Given the description of an element on the screen output the (x, y) to click on. 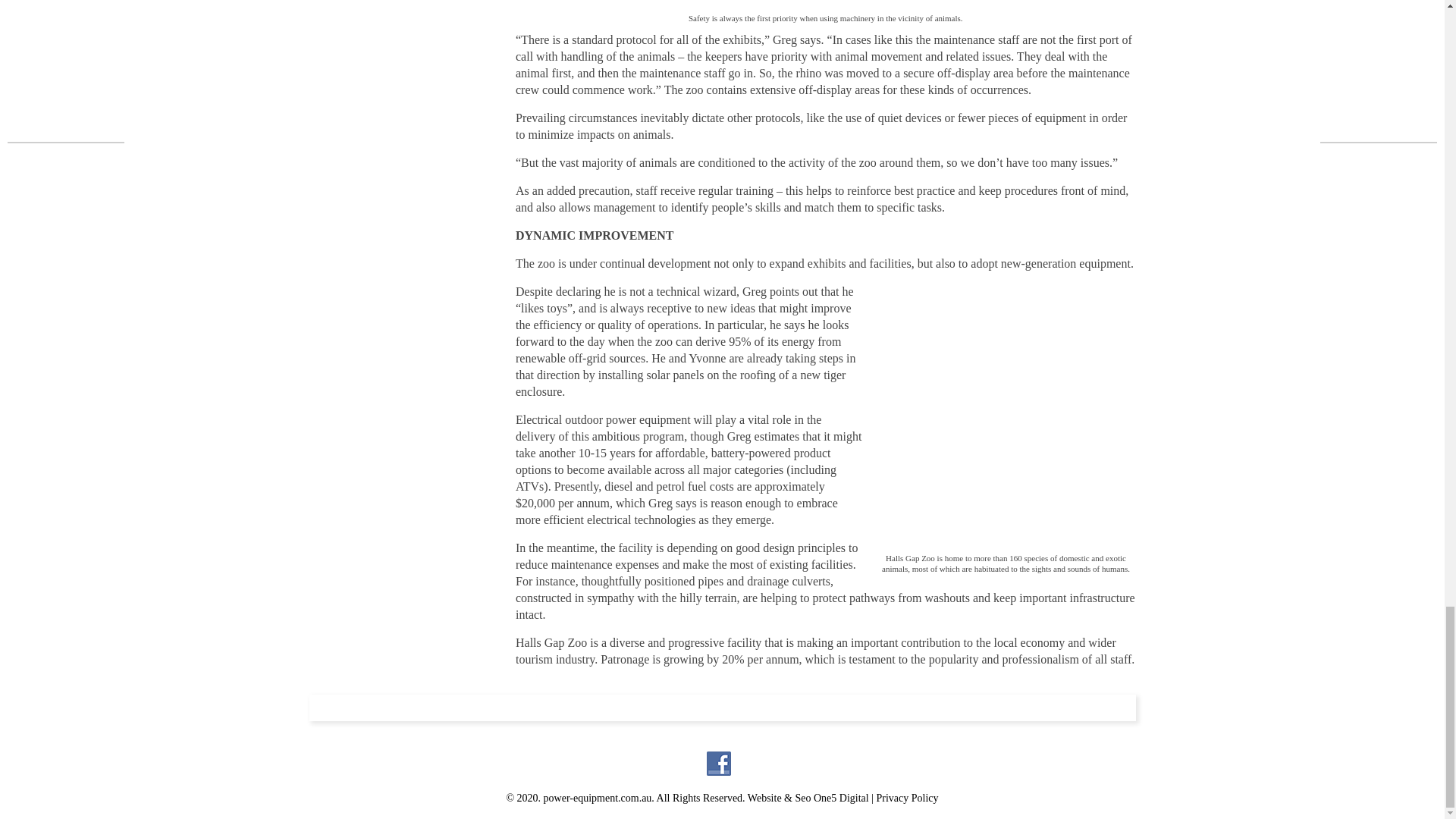
Follow Us on Facebook (718, 763)
Privacy Policy (907, 797)
One5 Digital (841, 797)
